Given the description of an element on the screen output the (x, y) to click on. 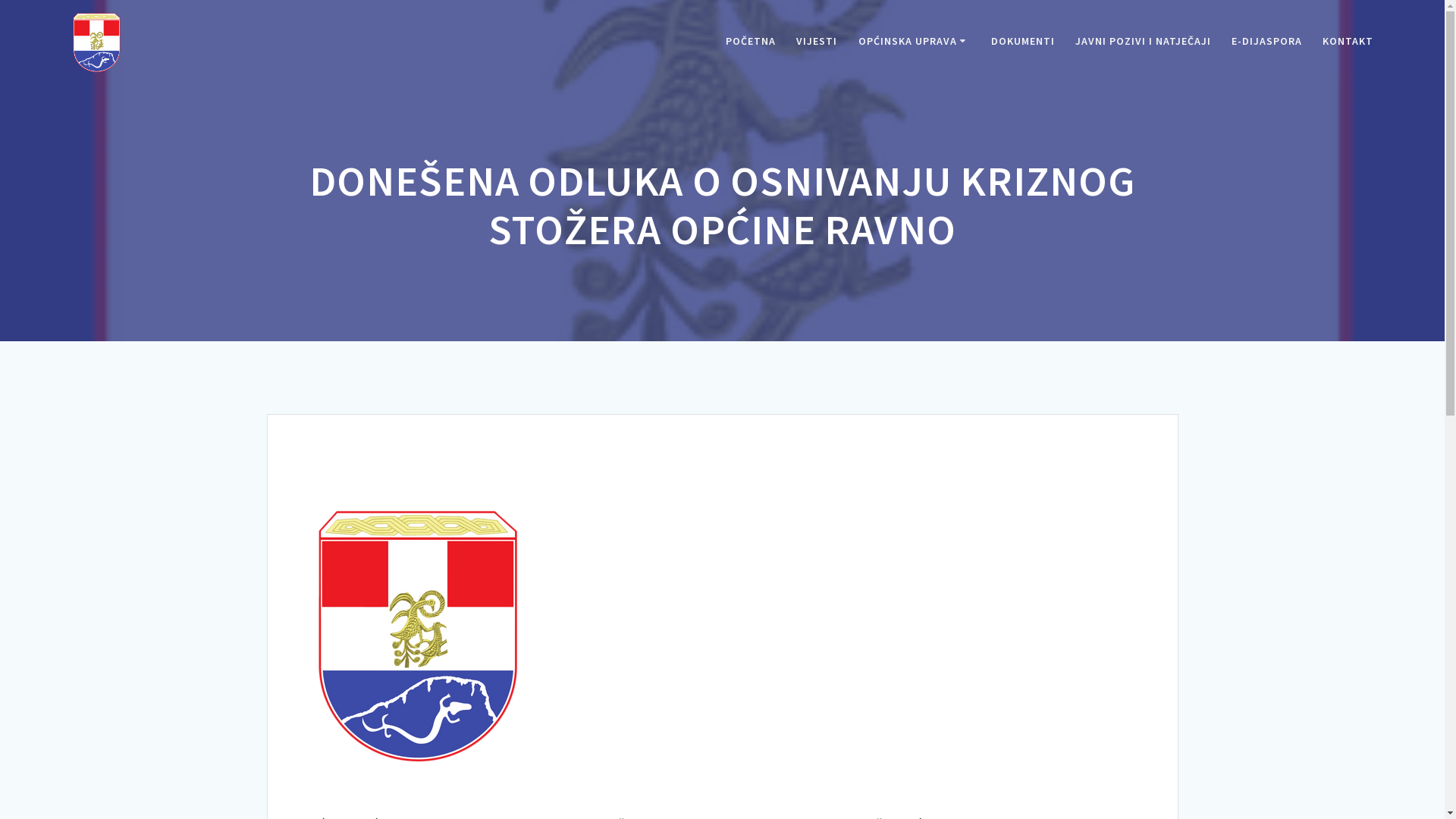
E-DIJASPORA Element type: text (1266, 41)
VIJESTI Element type: text (816, 41)
KONTAKT Element type: text (1347, 41)
DOKUMENTI Element type: text (1022, 41)
